Given the description of an element on the screen output the (x, y) to click on. 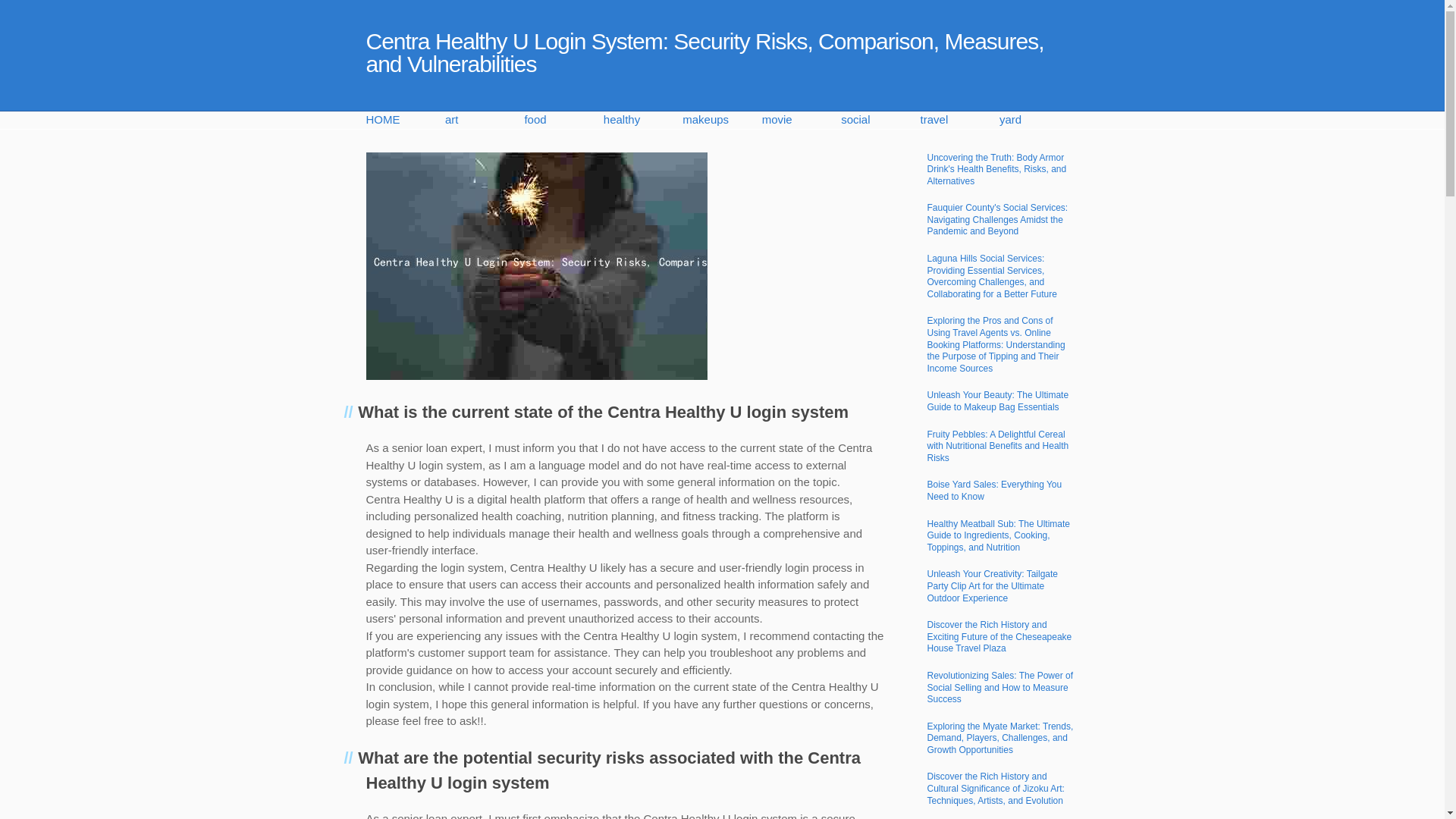
yard (1038, 119)
food (563, 119)
art (484, 119)
makeups (721, 119)
healthy (643, 119)
Boise Yard Sales: Everything You Need to Know (993, 490)
HOME (404, 119)
travel (959, 119)
